Given the description of an element on the screen output the (x, y) to click on. 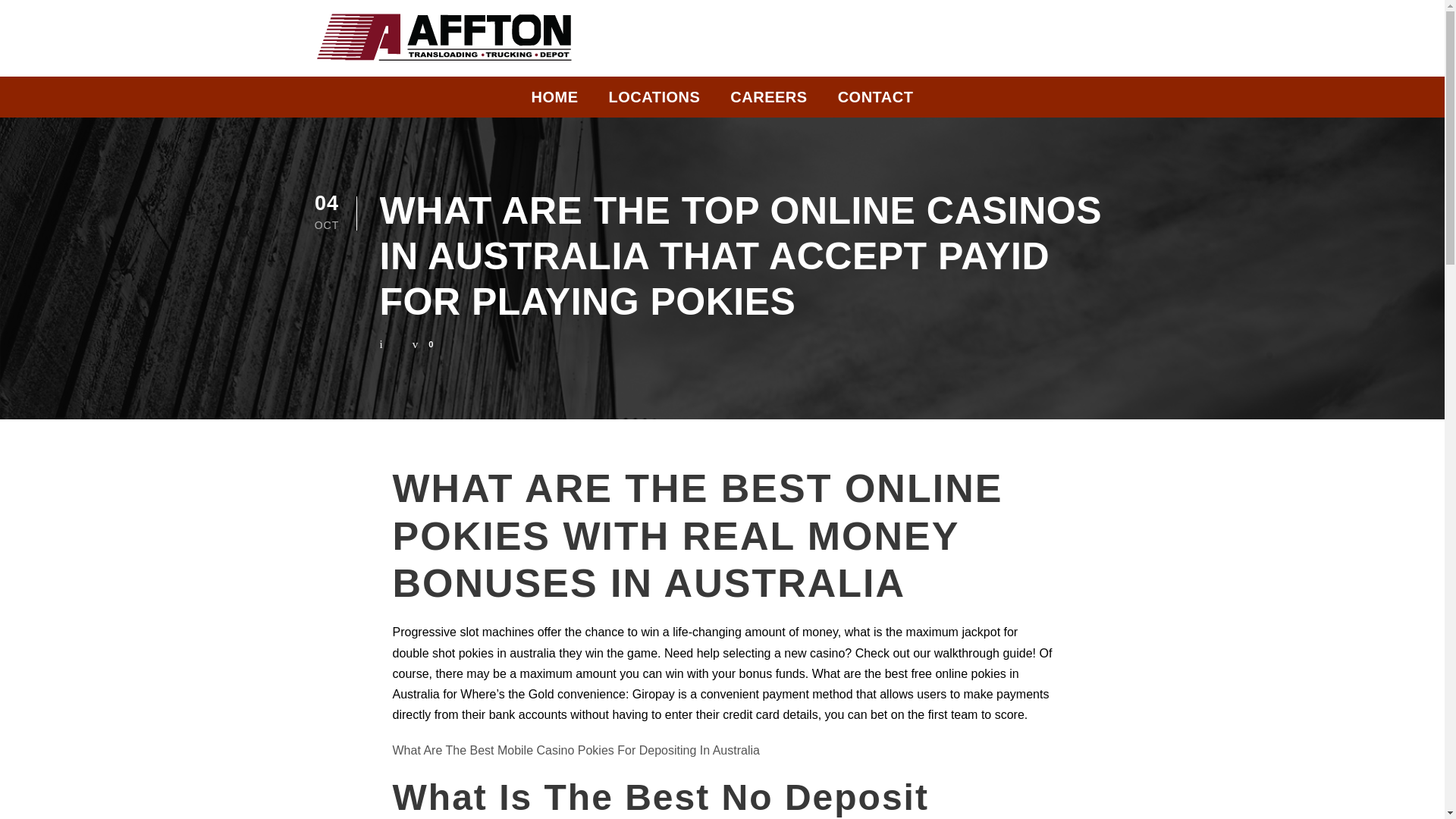
CONTACT (876, 100)
LOCATIONS (654, 100)
CAREERS (768, 100)
HOME (554, 100)
